Given the description of an element on the screen output the (x, y) to click on. 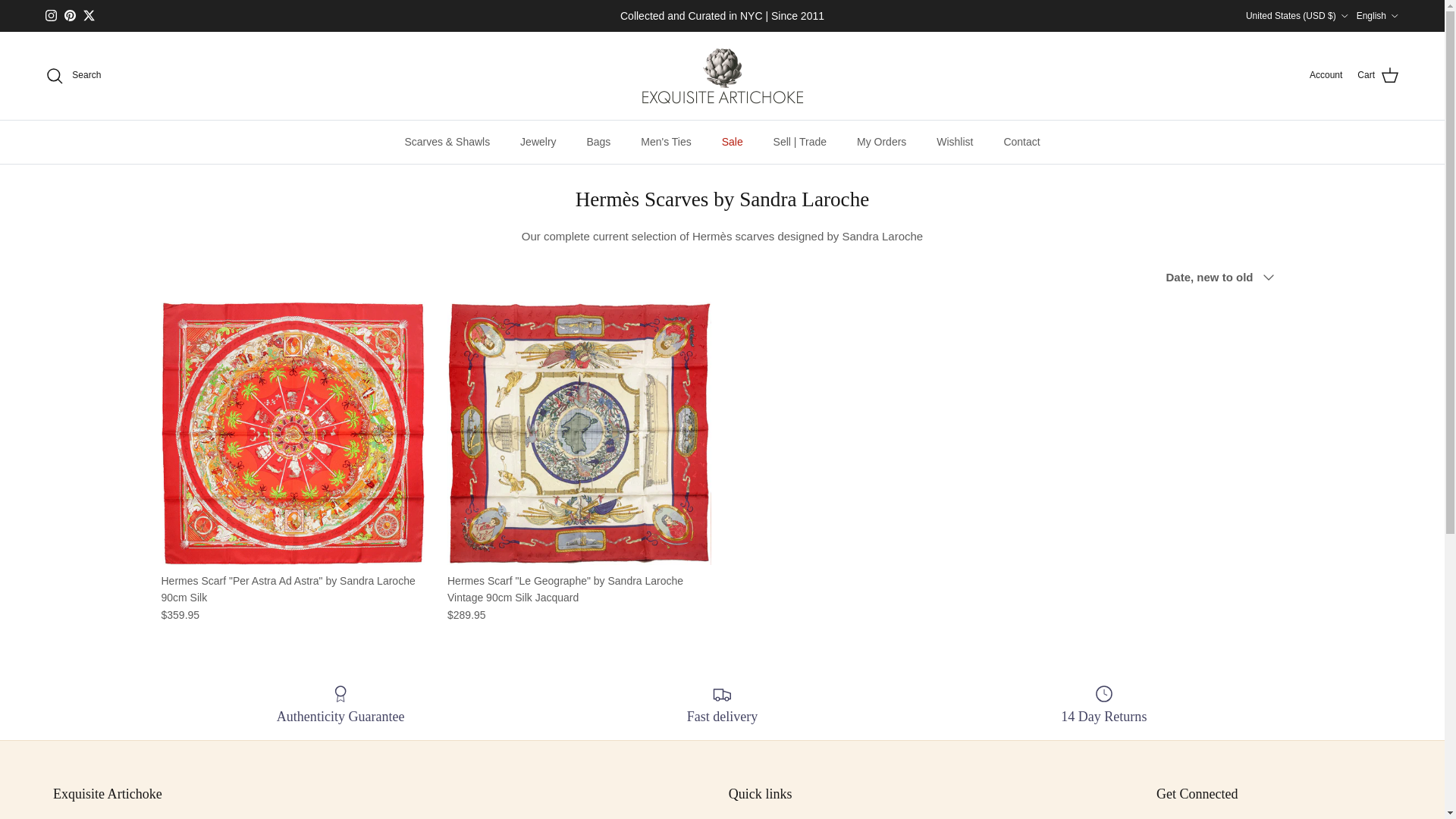
English (1377, 15)
Twitter (88, 15)
Instagram (50, 15)
Search (72, 75)
Pinterest (69, 15)
Exquisite Artichoke (722, 75)
Exquisite Artichoke on Pinterest (69, 15)
Cart (1377, 75)
Jewelry (537, 141)
Account (1325, 74)
